Given the description of an element on the screen output the (x, y) to click on. 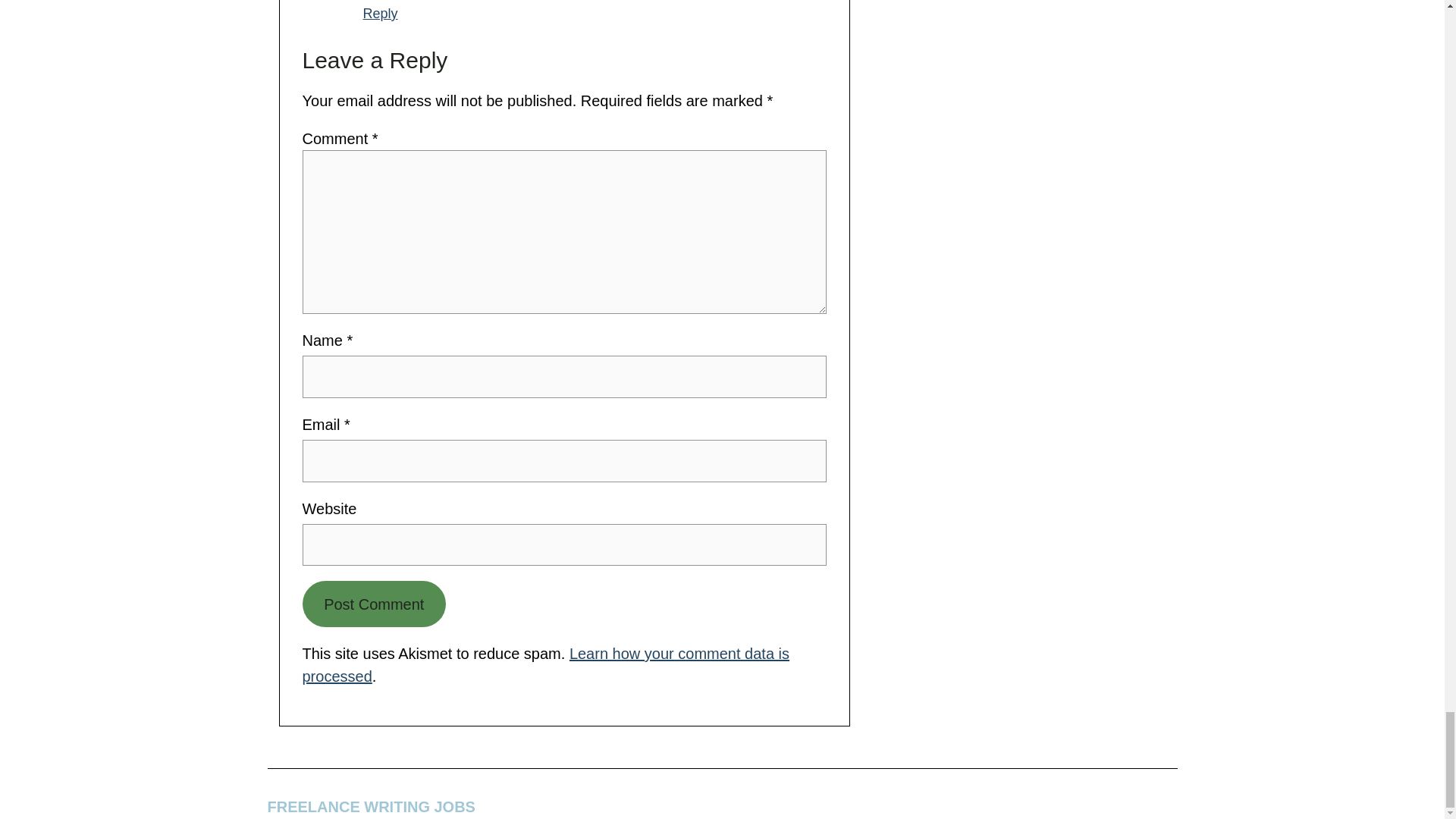
Post Comment (373, 603)
